Given the description of an element on the screen output the (x, y) to click on. 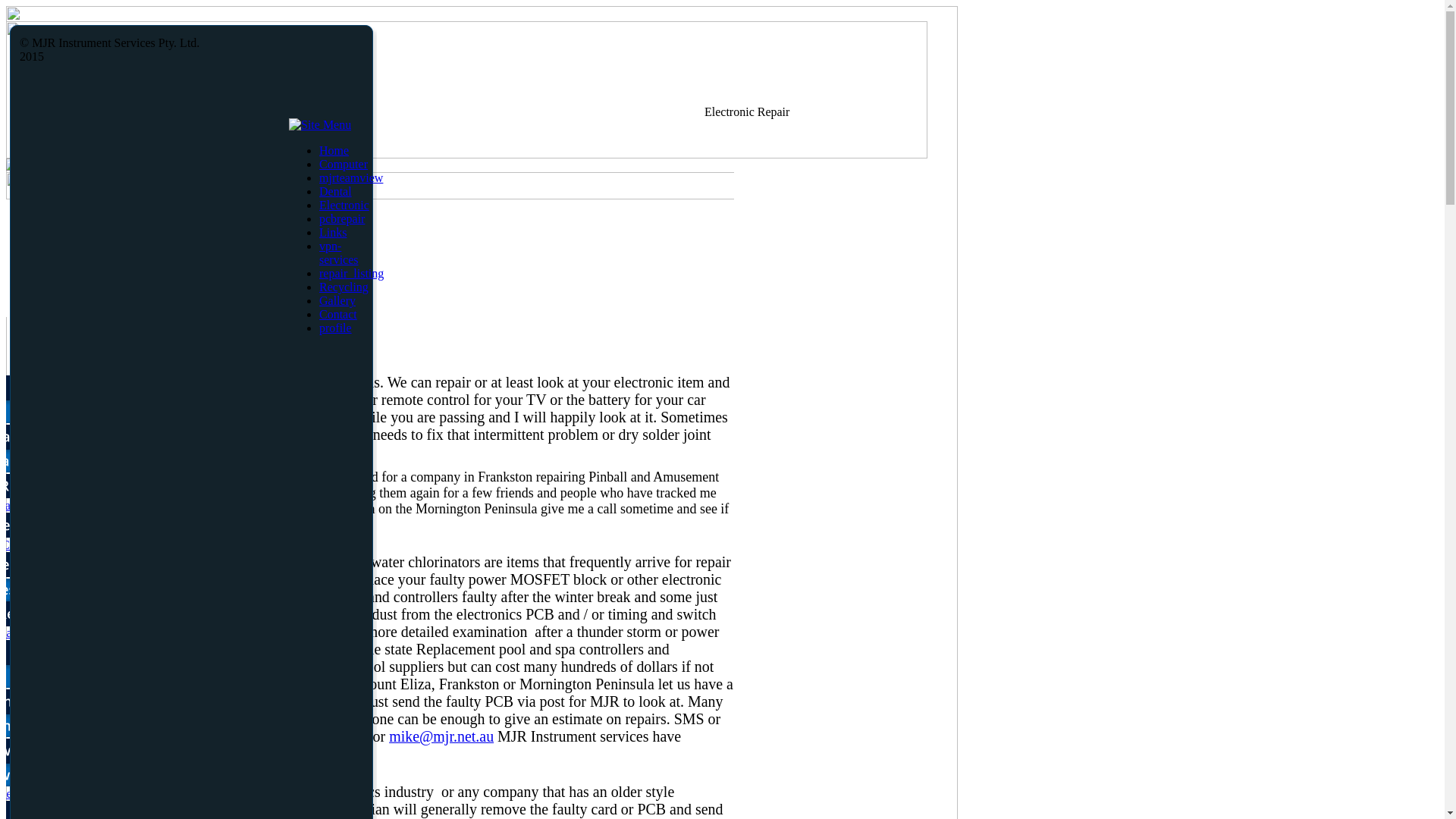
Gallery Element type: text (337, 300)
Electronic Element type: text (344, 204)
Dental Element type: text (335, 191)
Recycling Element type: text (343, 286)
profile Element type: text (335, 327)
mjrteamview Element type: text (350, 177)
vpn-services Element type: text (338, 252)
pcbrepair Element type: text (341, 218)
repair_listing Element type: text (351, 272)
Contact Element type: text (338, 313)
Home Element type: text (333, 150)
Links Element type: text (332, 231)
mike@mjr.net.au Element type: text (441, 736)
Computer Element type: text (343, 163)
